Given the description of an element on the screen output the (x, y) to click on. 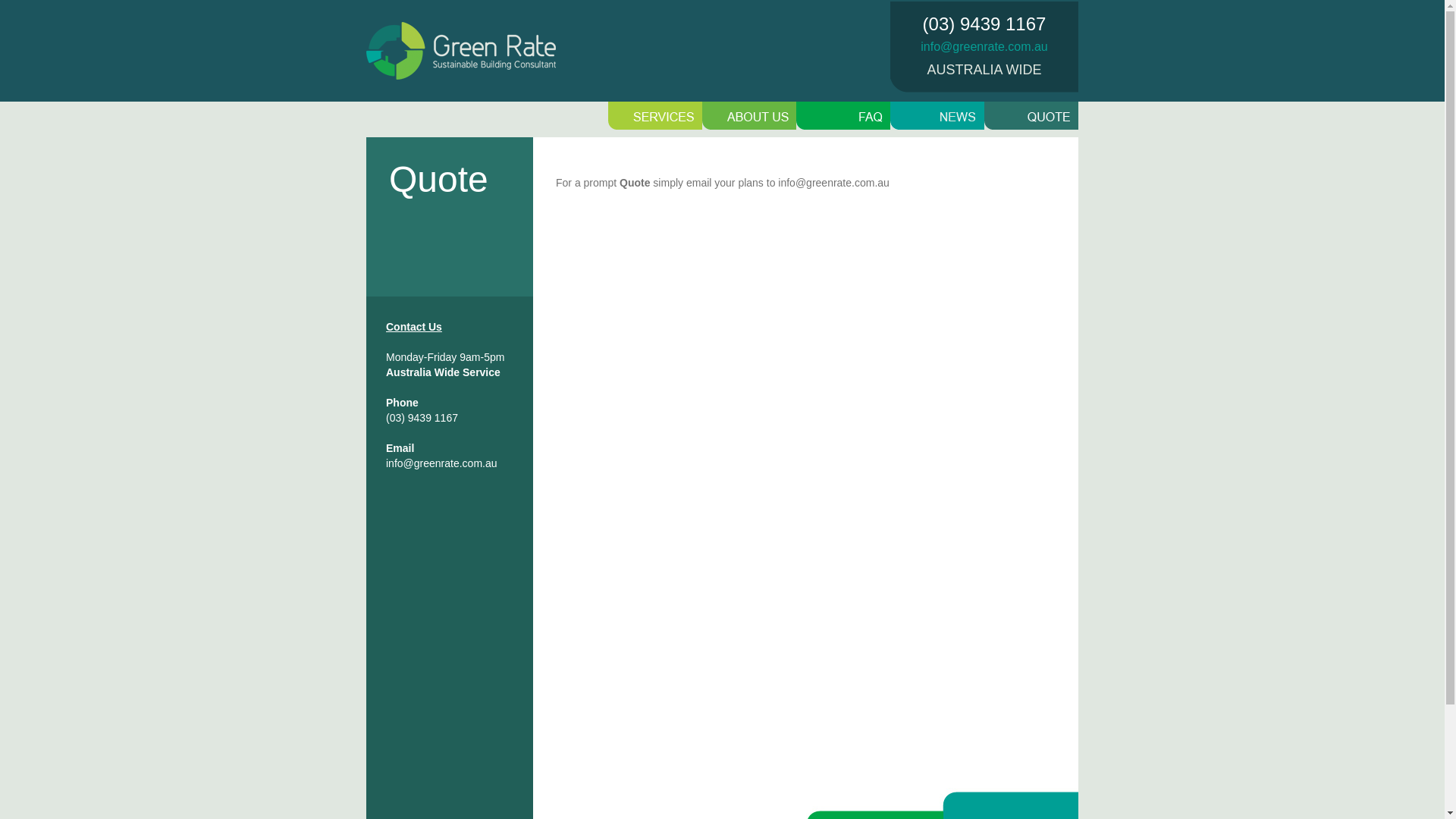
Contact Element type: text (1031, 115)
info@greenrate.com.au Element type: text (983, 46)
Energy Rating Element type: text (843, 115)
Energy Rating Victoria Element type: text (655, 115)
Energy Rating News Element type: text (937, 115)
First Rate 5 Element type: text (749, 115)
